Given the description of an element on the screen output the (x, y) to click on. 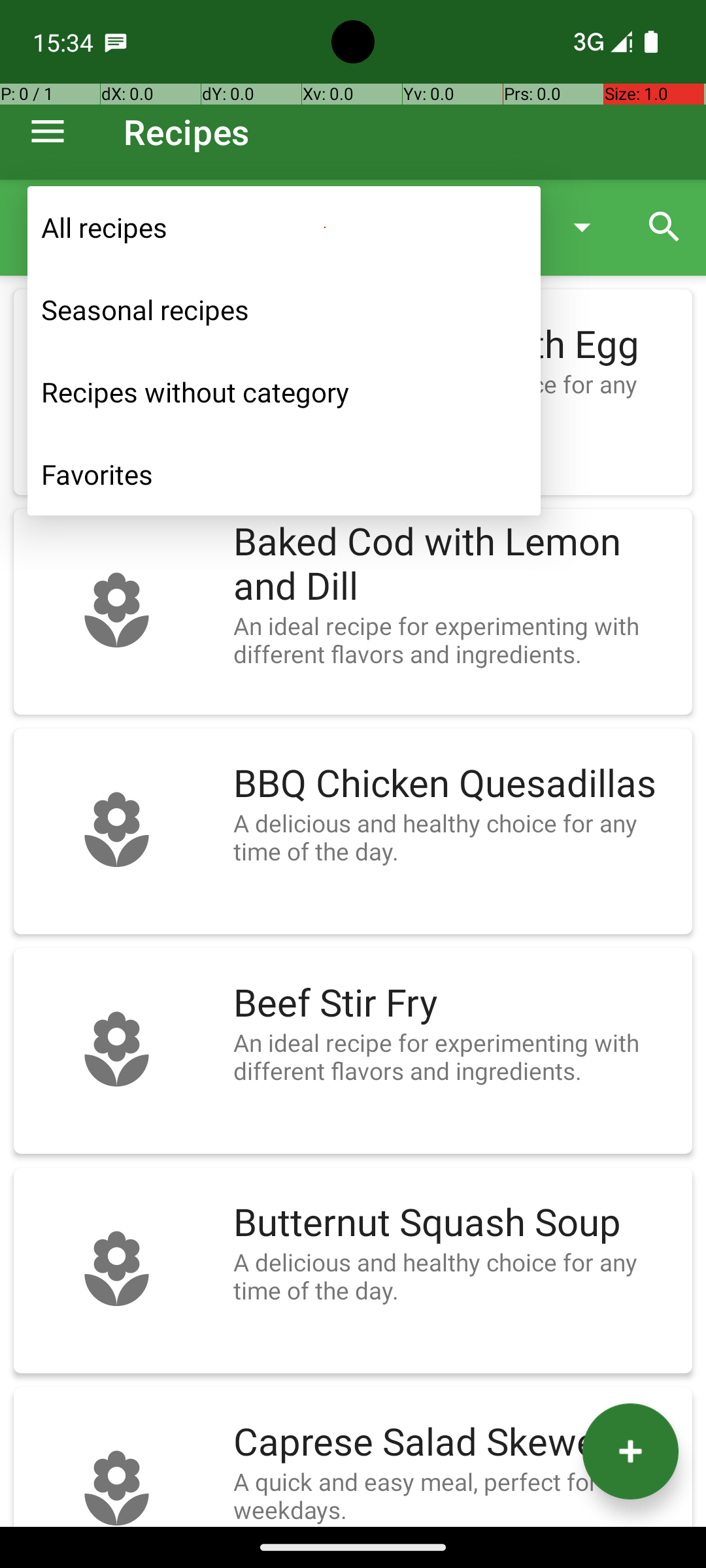
Seasonal recipes Element type: android.widget.CheckedTextView (283, 309)
Recipes without category Element type: android.widget.CheckedTextView (283, 391)
